Given the description of an element on the screen output the (x, y) to click on. 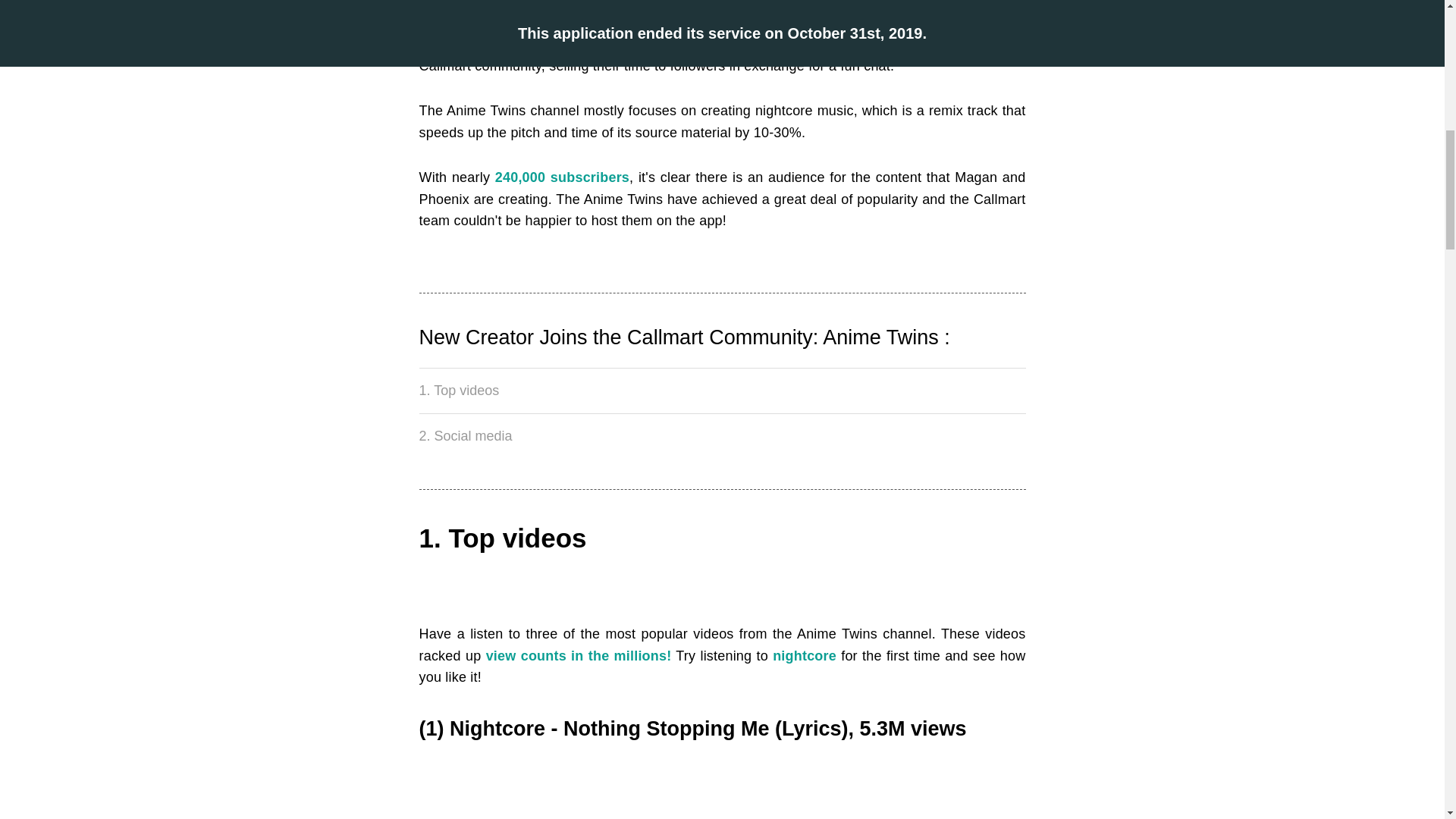
Anime Twins channel (520, 44)
1. Top videos (722, 390)
2. Social media (722, 436)
